Given the description of an element on the screen output the (x, y) to click on. 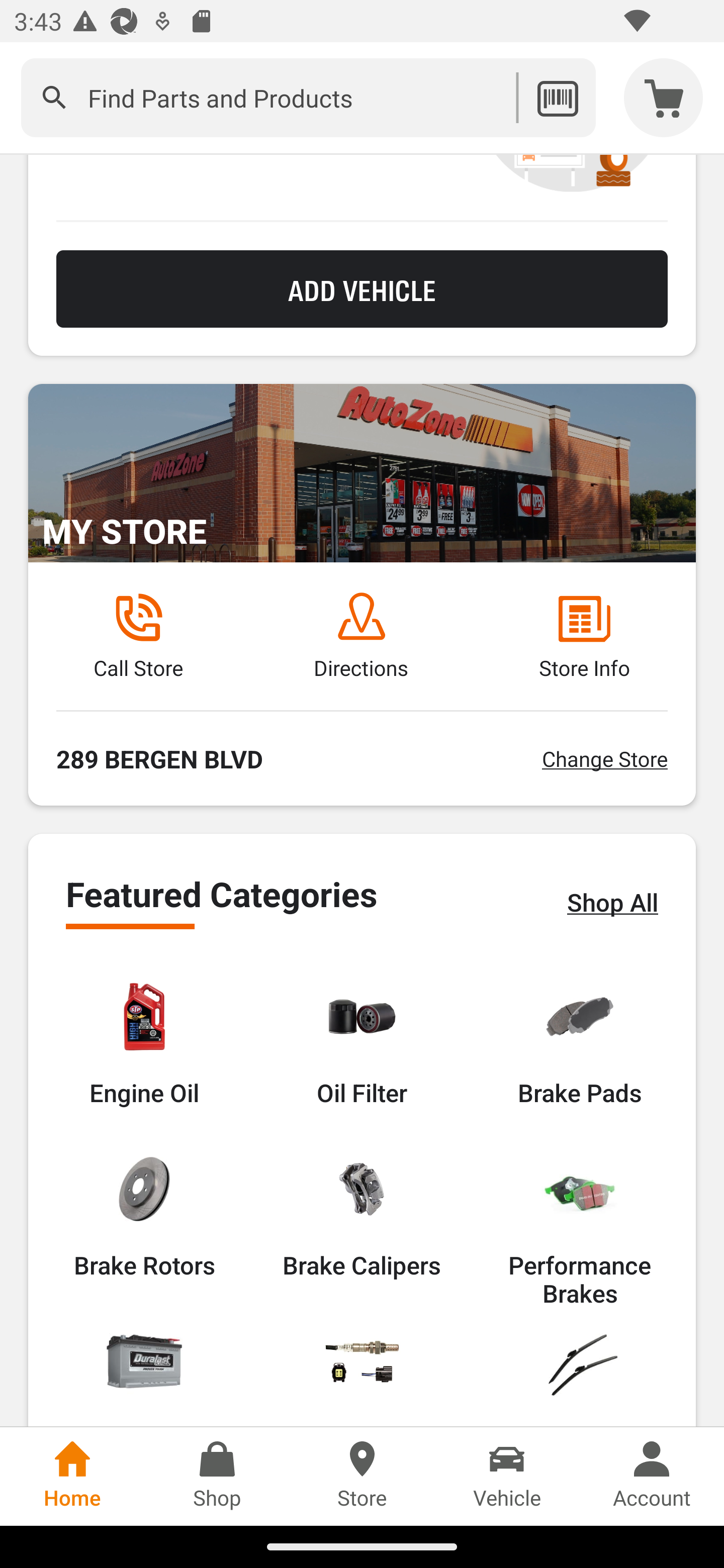
 scan-product-to-search  (557, 97)
 (54, 97)
Cart, no items  (663, 97)
ADD VEHICLE (361, 288)
Call Store  Call Store (138, 636)
Directions  Directions (361, 636)
Store Info  Store Info (584, 636)
Change Selected Store Change Store (604, 758)
Shop All Featured Categories Shop All (612, 901)
Engine Oil (144, 1043)
Oil Filter (361, 1043)
Brake Pads (579, 1043)
Brake Rotors (144, 1215)
Brake Calipers (361, 1215)
Performance Brakes (579, 1229)
Batteries (143, 1374)
O2 Sensors (361, 1374)
Wipers (580, 1374)
Home (72, 1475)
Shop (216, 1475)
Store (361, 1475)
Vehicle (506, 1475)
Account (651, 1475)
